Given the description of an element on the screen output the (x, y) to click on. 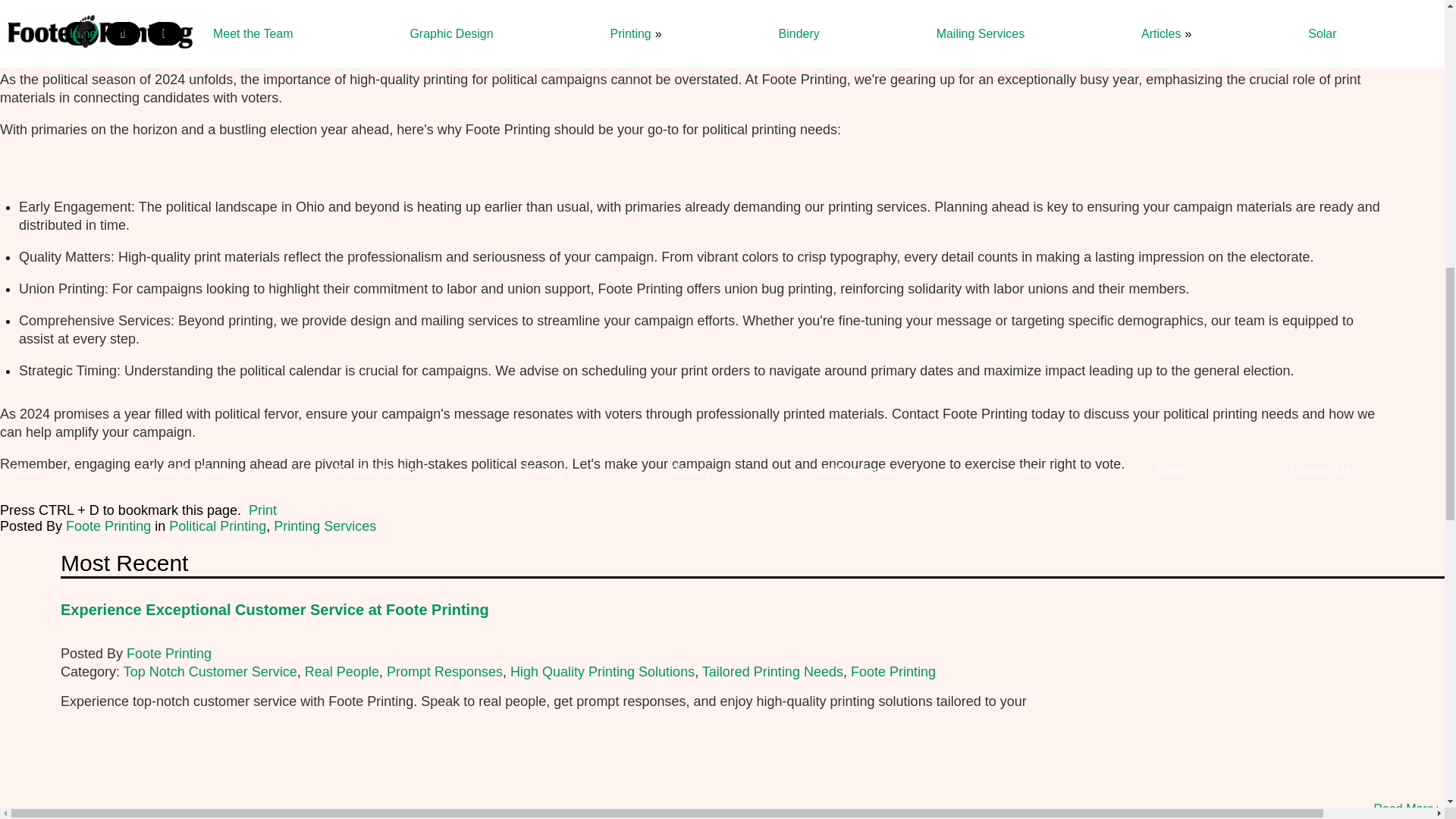
YouTube video player (685, 26)
